Given the description of an element on the screen output the (x, y) to click on. 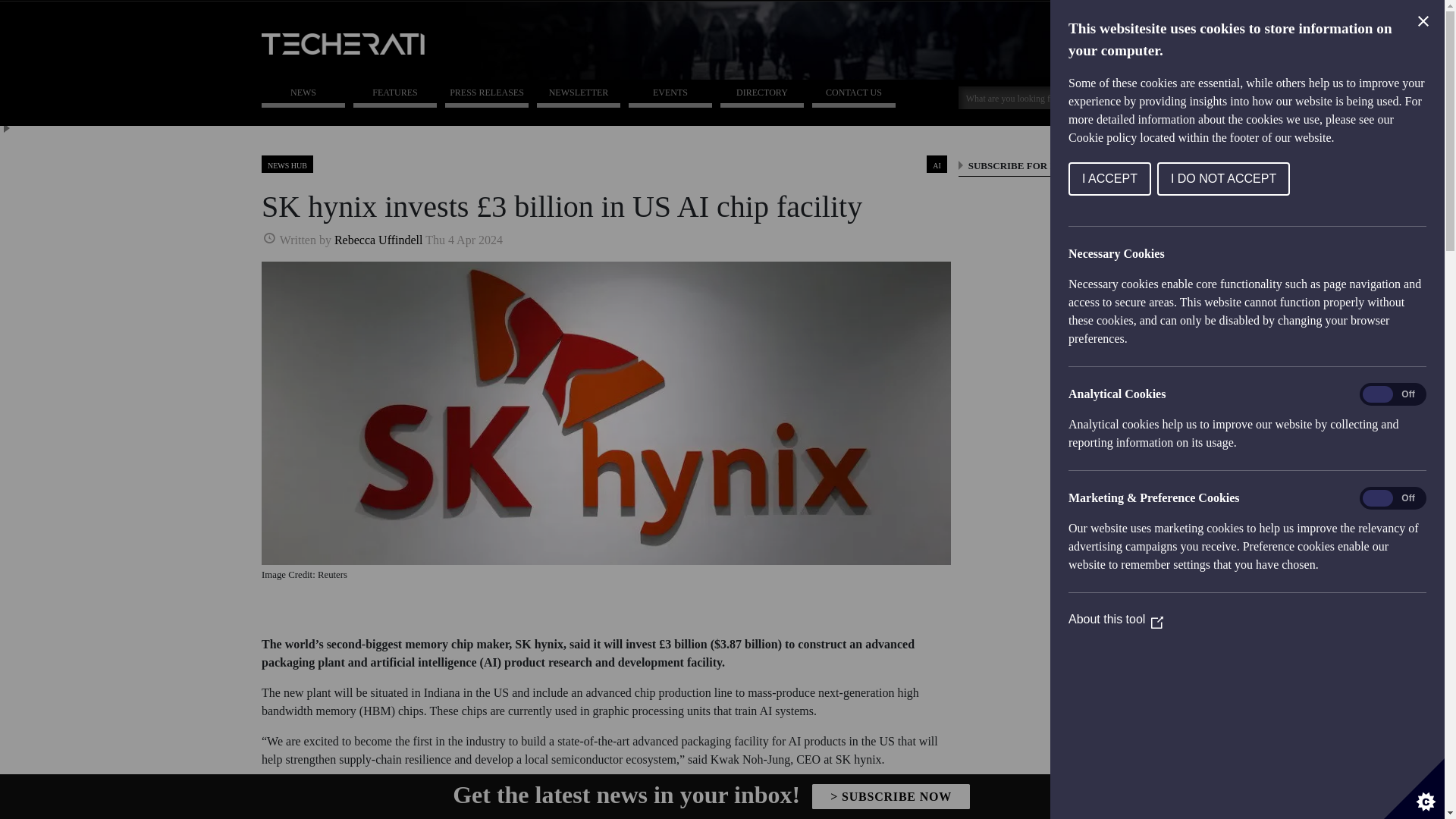
Search (1033, 97)
I ACCEPT (1380, 178)
Posts by Rebecca Uffindell (378, 237)
Search (1144, 96)
Search (1144, 96)
